Given the description of an element on the screen output the (x, y) to click on. 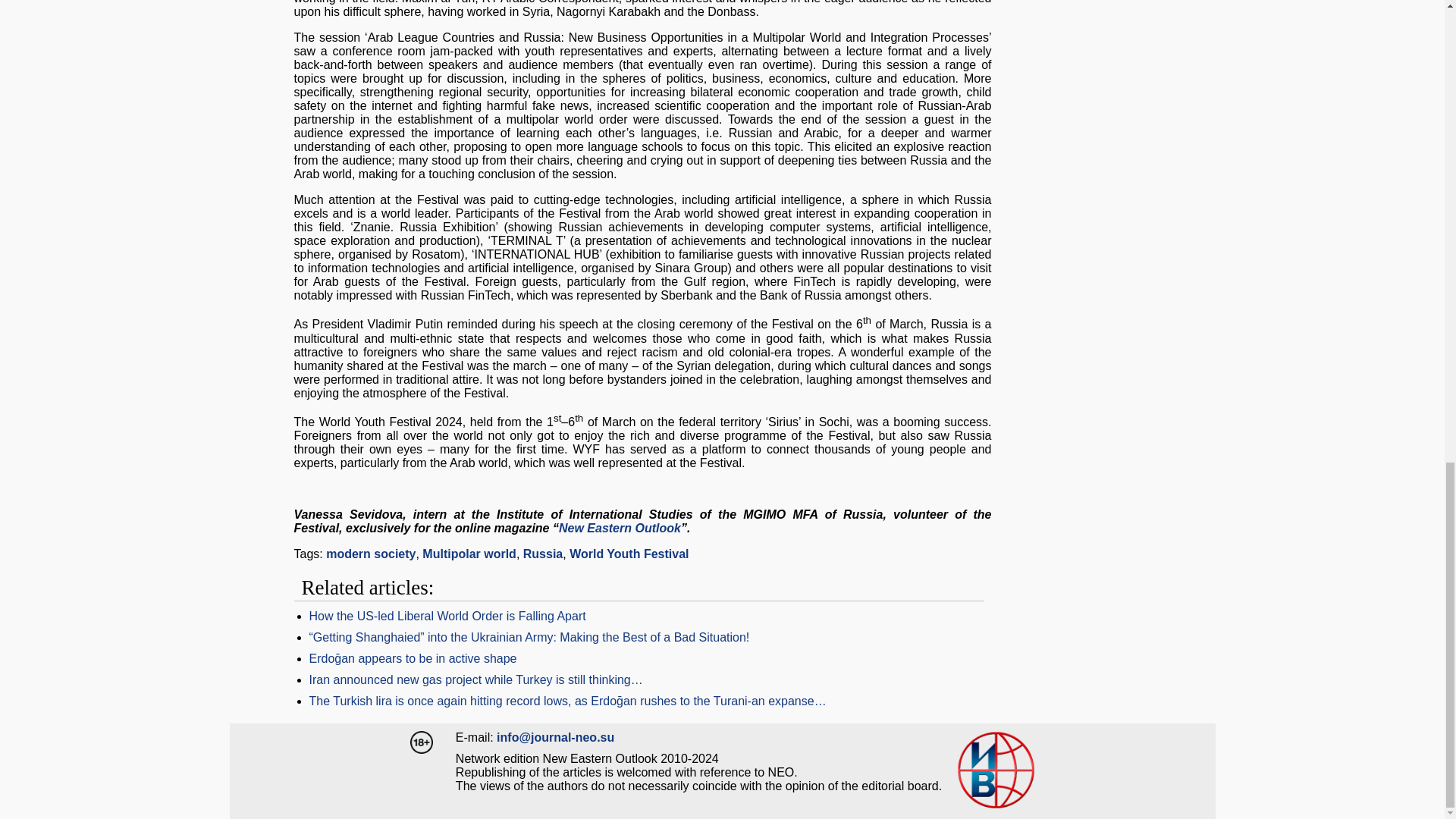
New Eastern Outlook (620, 527)
World Youth Festival (628, 553)
Russia (542, 553)
How the US-led Liberal World Order is Falling Apart (444, 615)
Multipolar world (469, 553)
modern society (370, 553)
